Given the description of an element on the screen output the (x, y) to click on. 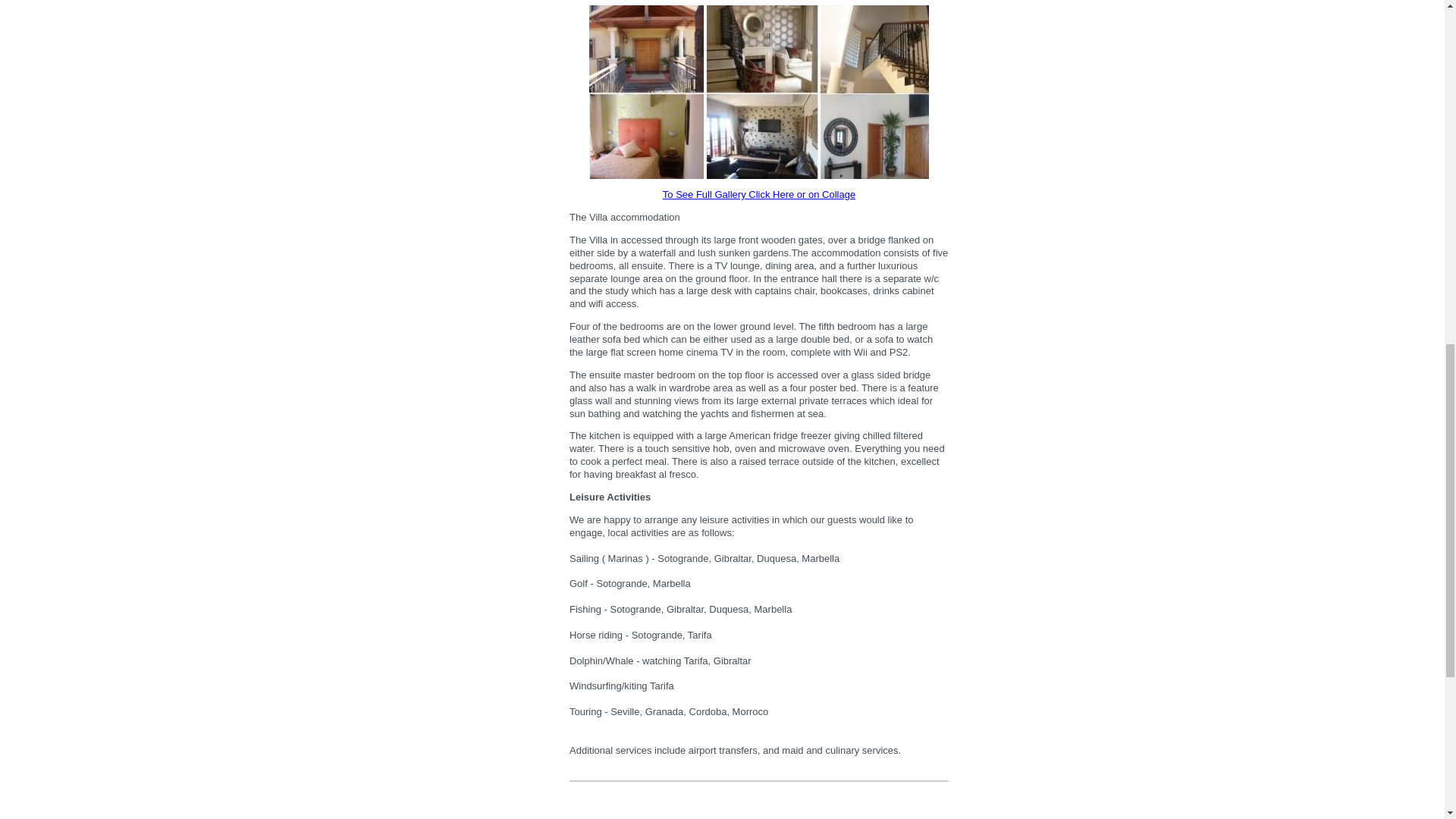
To See Full Gallery Click Here or on Collage (759, 194)
